Given the description of an element on the screen output the (x, y) to click on. 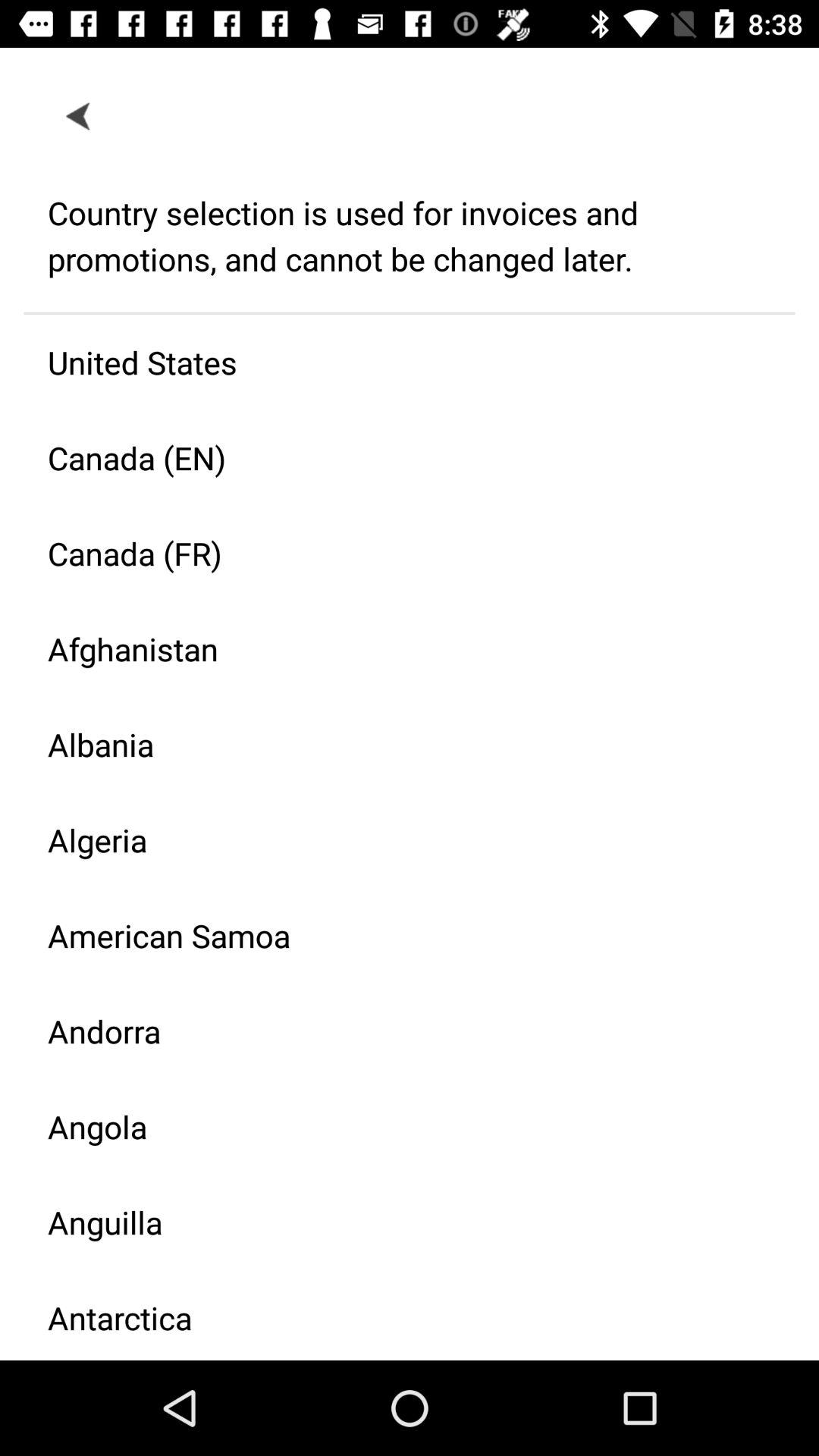
swipe to the american samoa (397, 935)
